Given the description of an element on the screen output the (x, y) to click on. 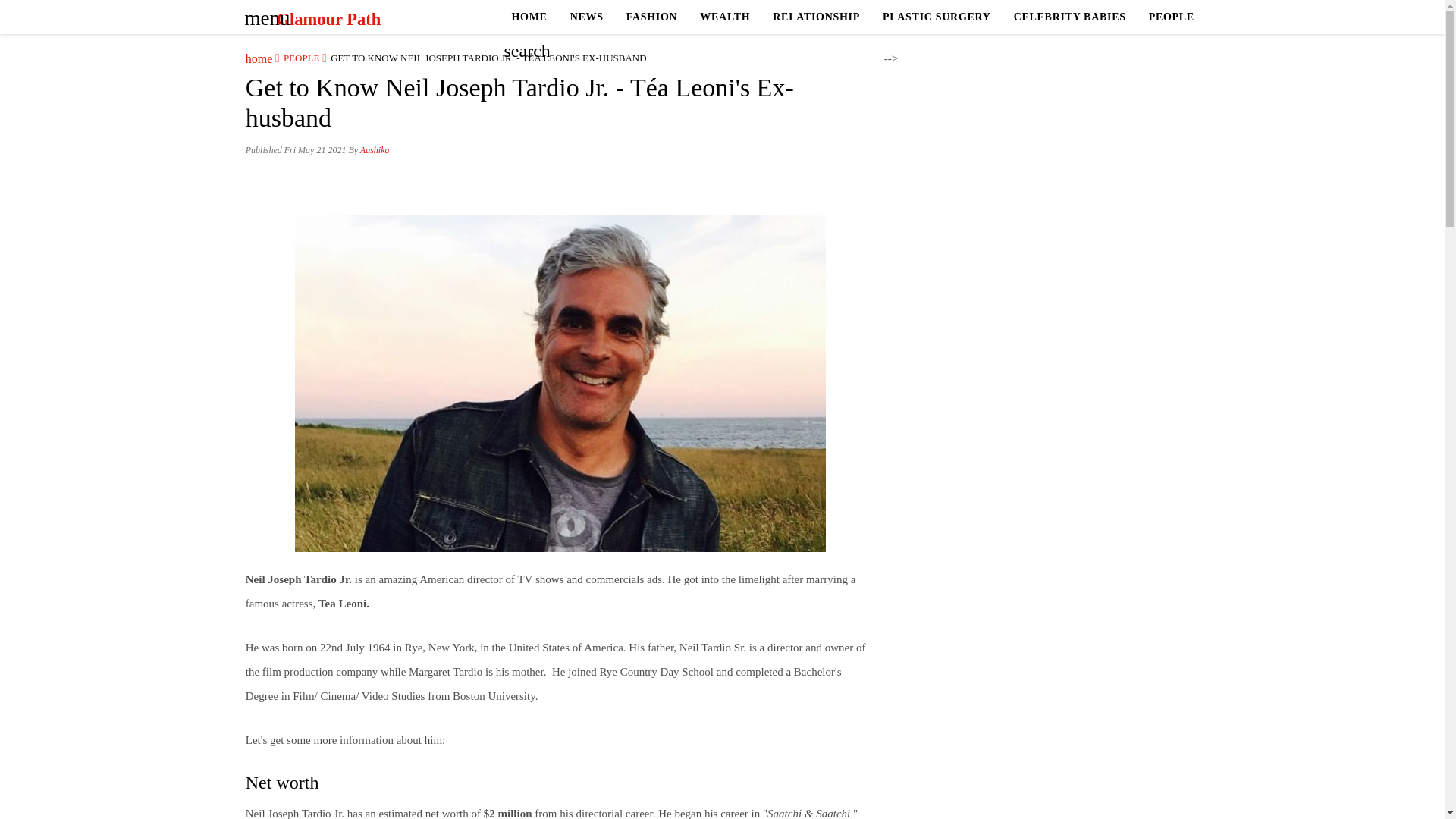
Aashika (374, 149)
WEALTH (724, 17)
Glamour Path (328, 18)
home (259, 57)
PEOPLE (1171, 17)
FASHION (651, 17)
CELEBRITY BABIES (1070, 17)
PLASTIC SURGERY (936, 17)
NEWS (586, 17)
menu (262, 13)
